Given the description of an element on the screen output the (x, y) to click on. 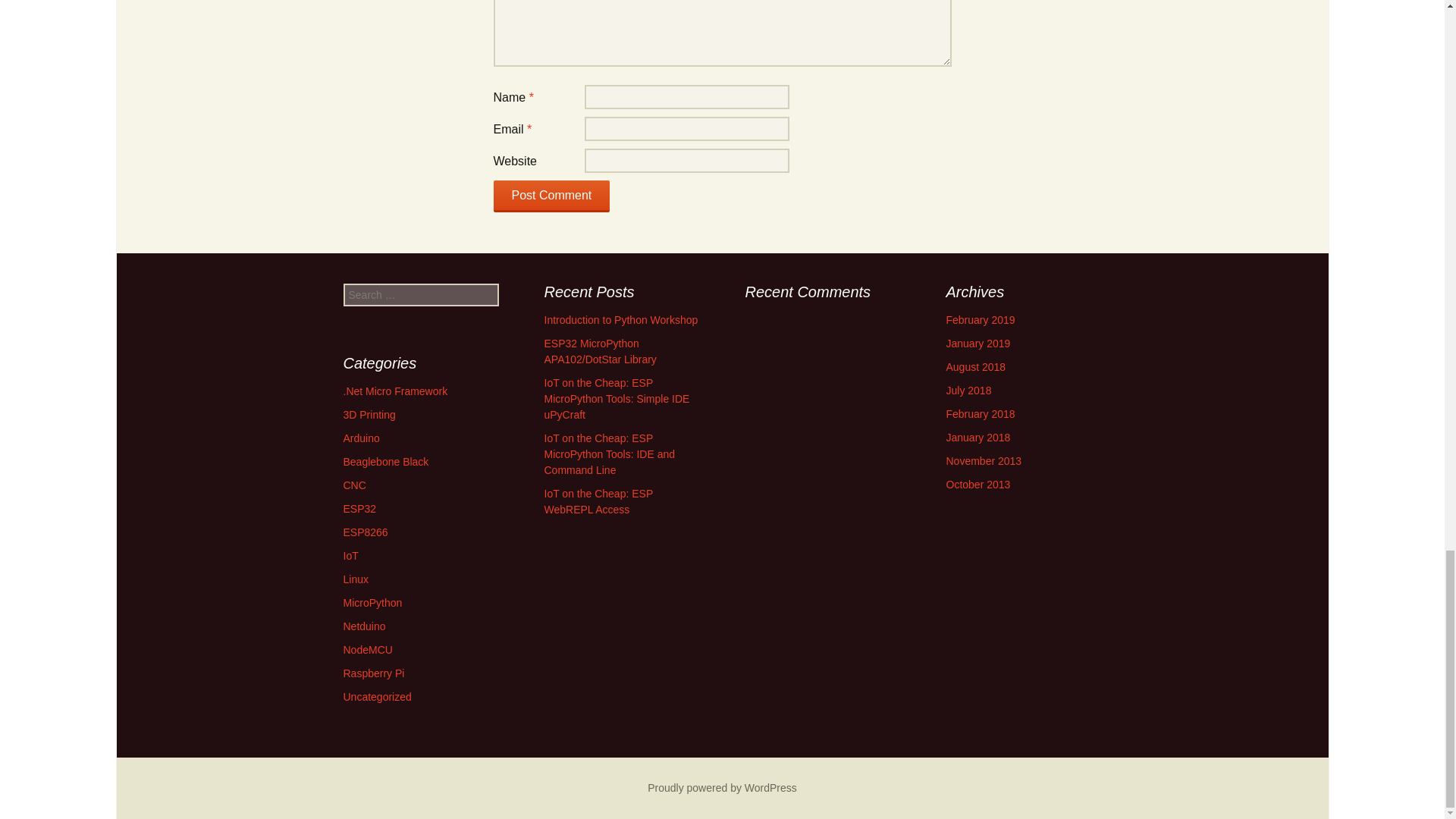
Post Comment (551, 196)
Introduction to Python Workshop (621, 319)
August 2018 (976, 367)
January 2019 (978, 343)
February 2019 (980, 319)
IoT on the Cheap: ESP MicroPython Tools: Simple IDE uPyCraft (617, 398)
IoT on the Cheap: ESP WebREPL Access (598, 501)
Post Comment (551, 196)
